Given the description of an element on the screen output the (x, y) to click on. 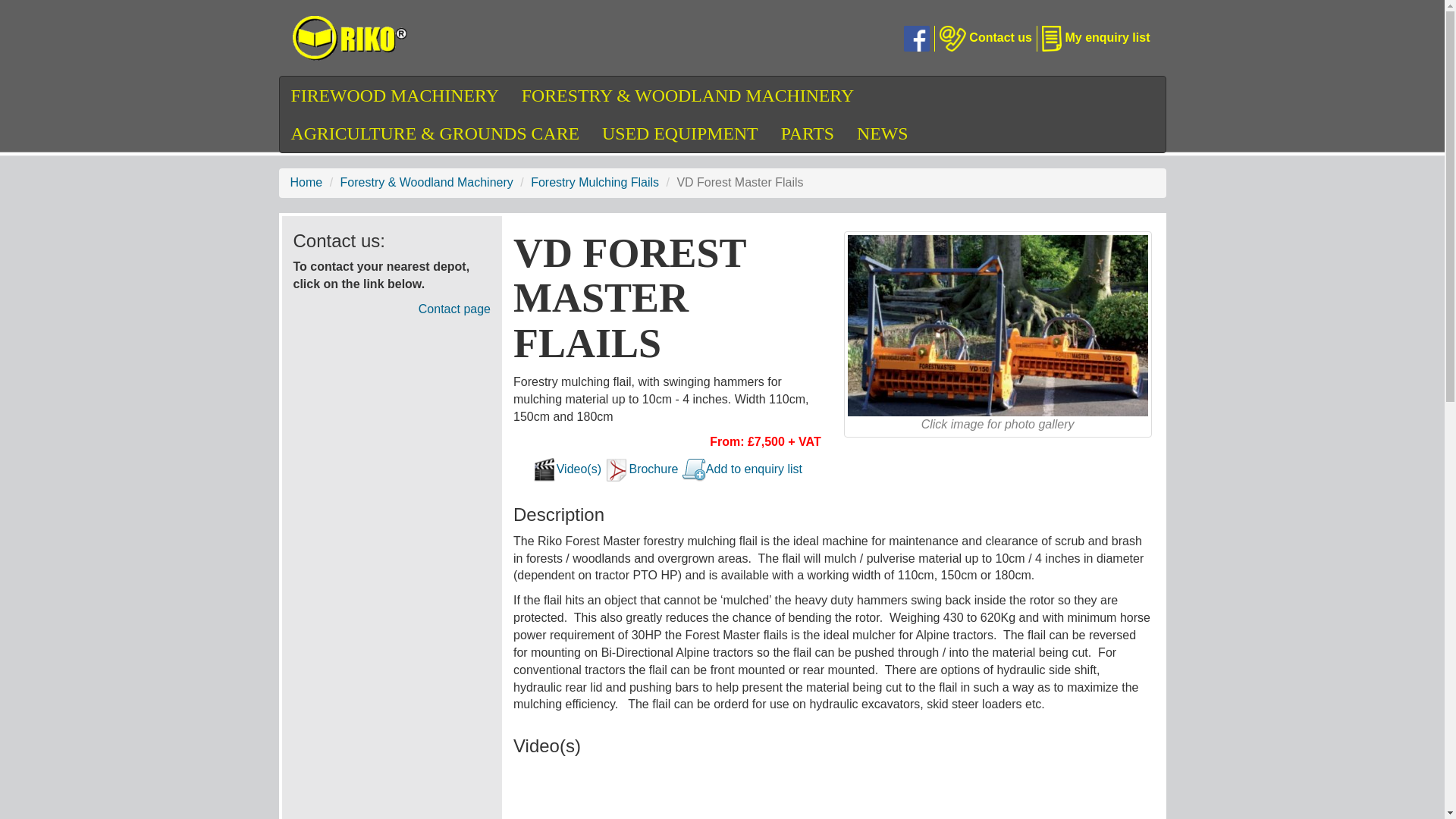
FIREWOOD MACHINERY (394, 95)
Home (305, 182)
My enquiry list (1095, 38)
Contact us (985, 38)
USED EQUIPMENT (680, 133)
PARTS (807, 133)
NEWS (881, 133)
Brochure (653, 469)
Add to enquiry list (754, 469)
Forestry Mulching Flails (595, 182)
Contact page (454, 308)
